Given the description of an element on the screen output the (x, y) to click on. 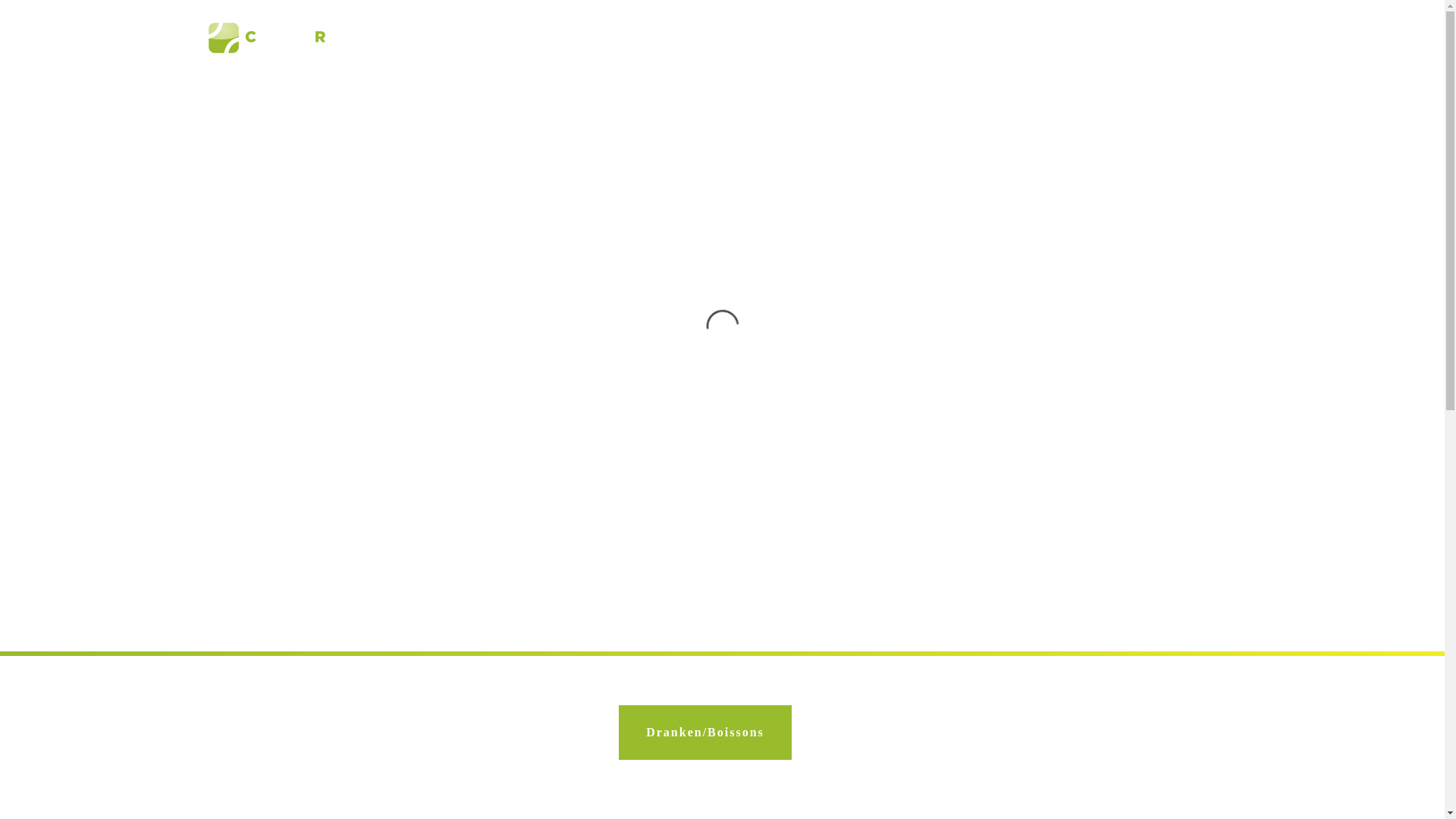
LESSEN Element type: text (589, 37)
CONTACT Element type: text (1191, 37)
Tennis, Padel Element type: hover (289, 37)
CLUB-OUTFIT Element type: text (1101, 37)
CLUB Element type: text (525, 37)
HERFSTKAMP Element type: text (1002, 37)
Dranken/Boissons Element type: text (704, 732)
LICENTIE TENNIS VLAANDEREN Element type: text (856, 37)
TERREINRESERVATIE Element type: text (692, 37)
